Given the description of an element on the screen output the (x, y) to click on. 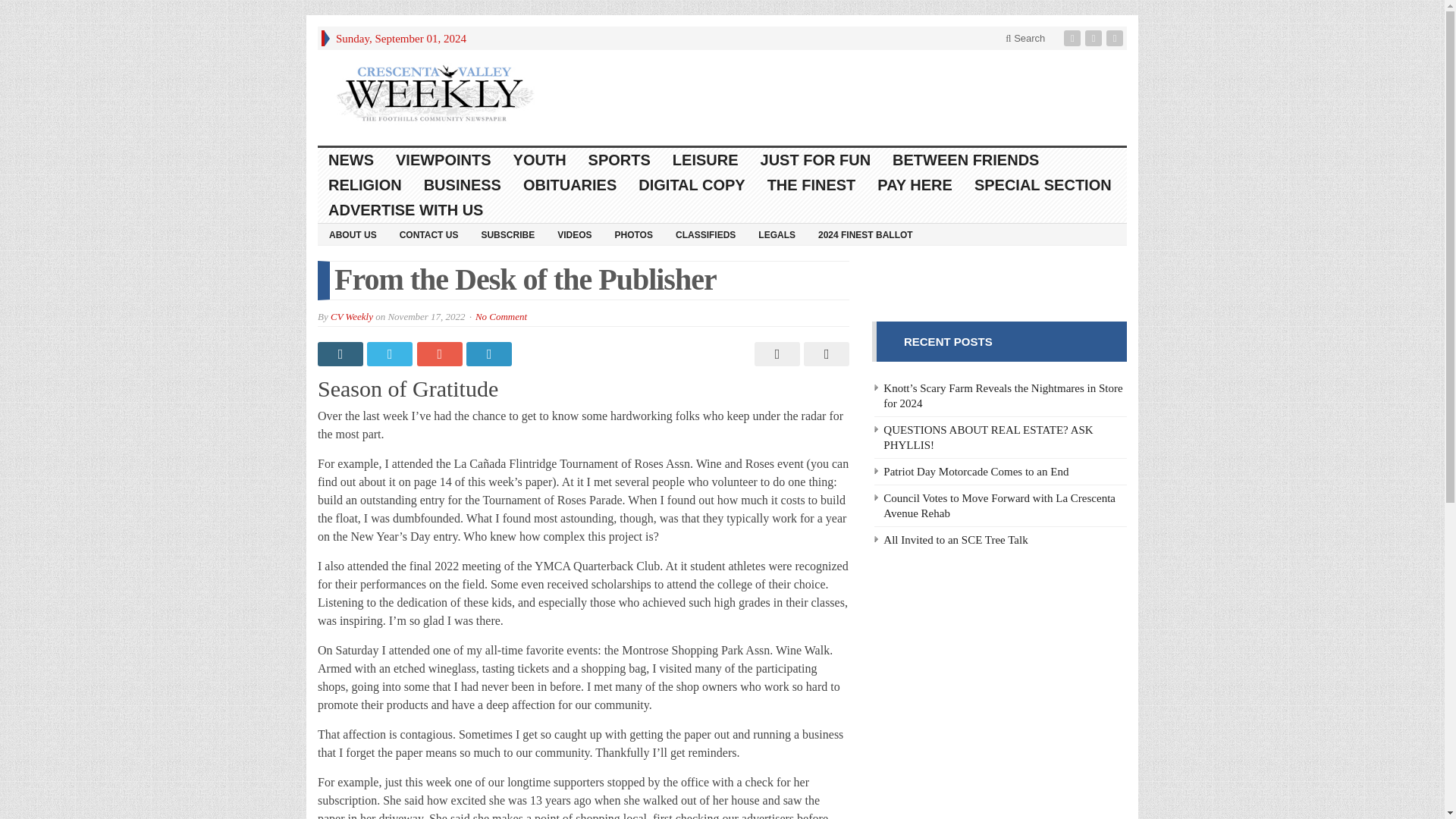
PAY HERE (914, 185)
JUST FOR FUN (815, 160)
SPECIAL SECTION (1042, 185)
RELIGION (365, 185)
LEISURE (705, 160)
Send by Email (823, 354)
NEWS (351, 160)
Share on Twitter (391, 354)
SUBSCRIBE (507, 233)
BETWEEN FRIENDS (965, 160)
